Given the description of an element on the screen output the (x, y) to click on. 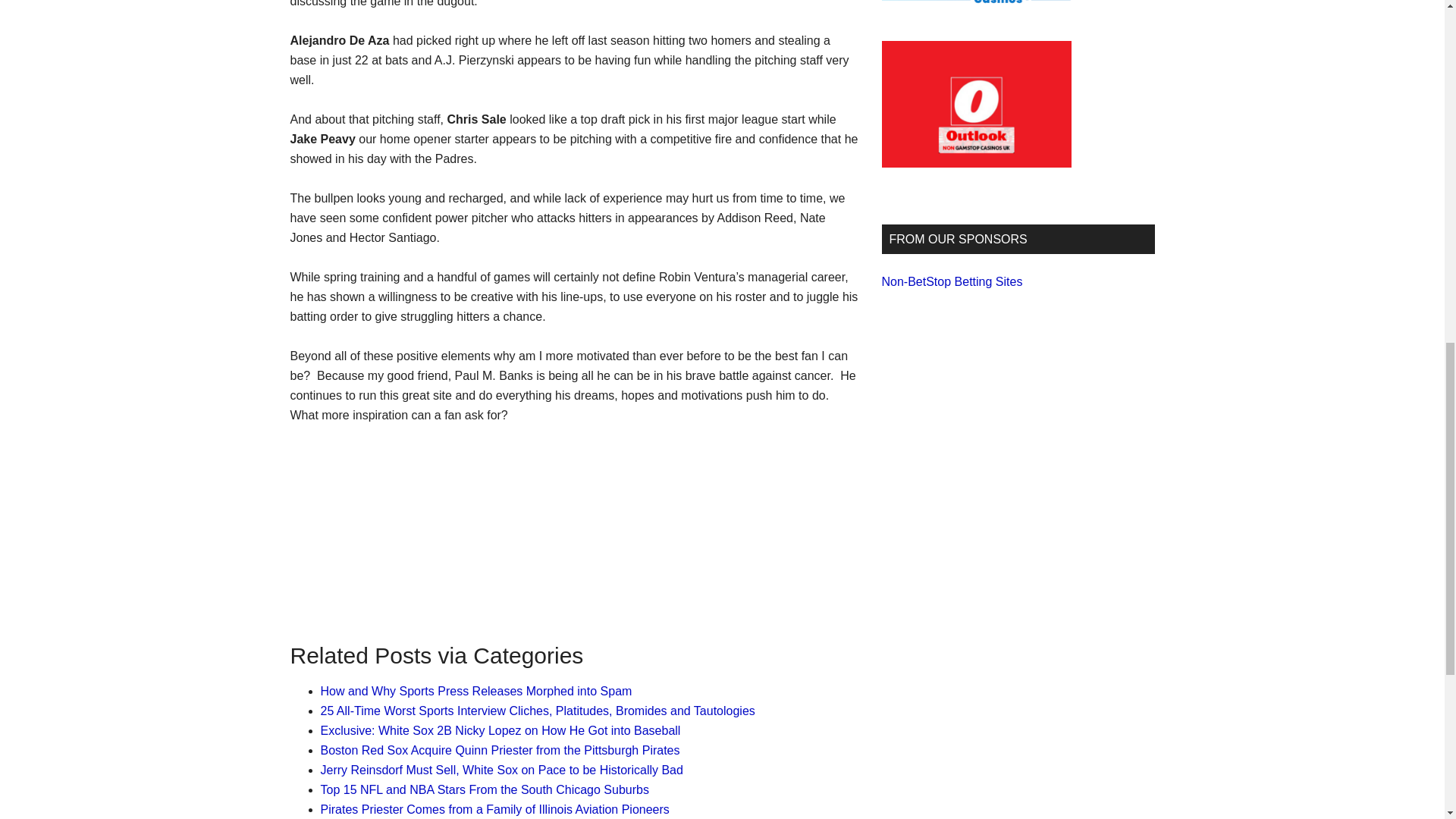
Top 15 NFL and NBA Stars From the South Chicago Suburbs (483, 789)
How and Why Sports Press Releases Morphed into Spam (475, 690)
Top 15 NFL and NBA Stars From the South Chicago Suburbs (483, 789)
